Given the description of an element on the screen output the (x, y) to click on. 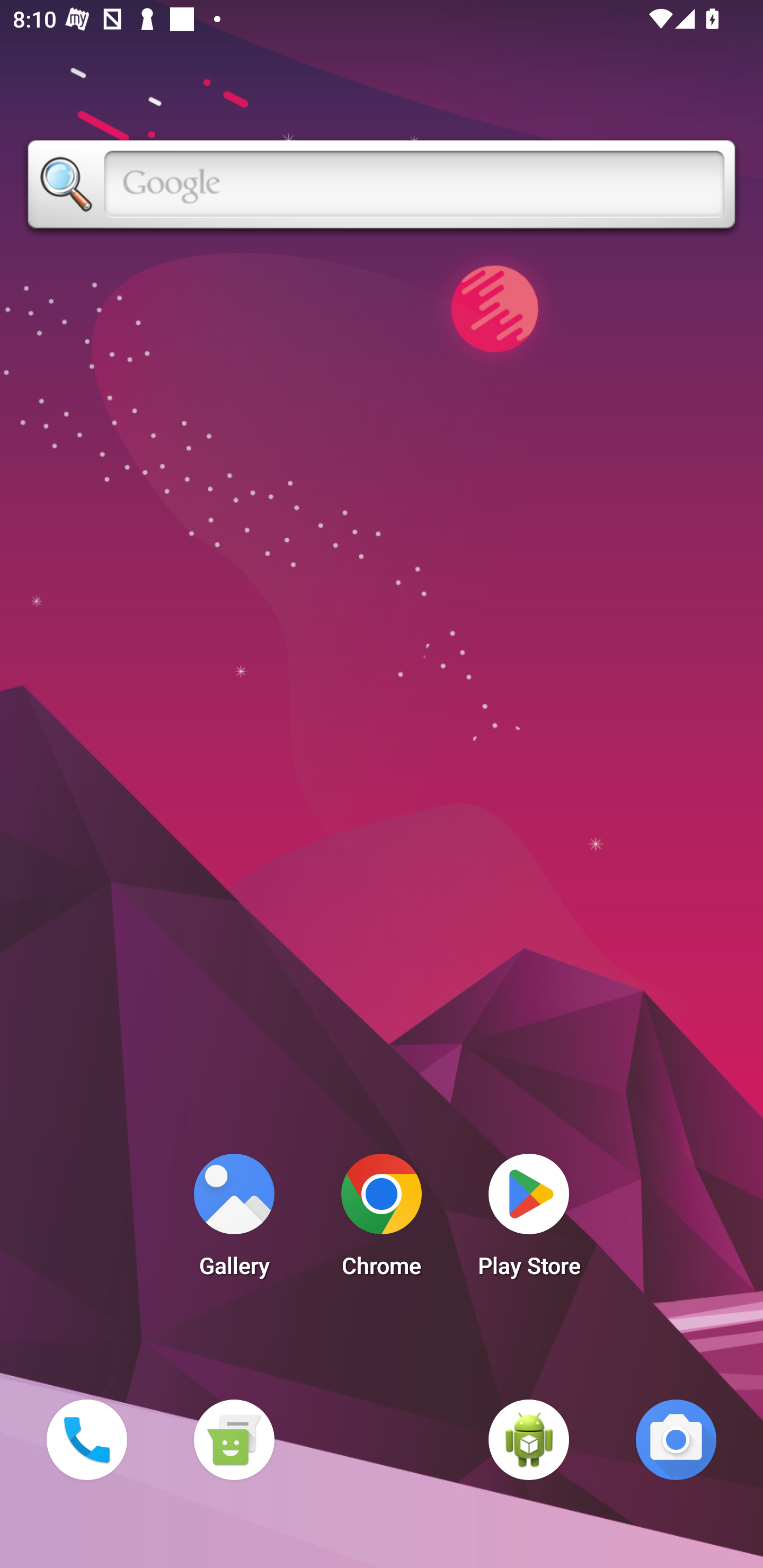
Gallery (233, 1220)
Chrome (381, 1220)
Play Store (528, 1220)
Phone (86, 1439)
Messaging (233, 1439)
WebView Browser Tester (528, 1439)
Camera (676, 1439)
